Given the description of an element on the screen output the (x, y) to click on. 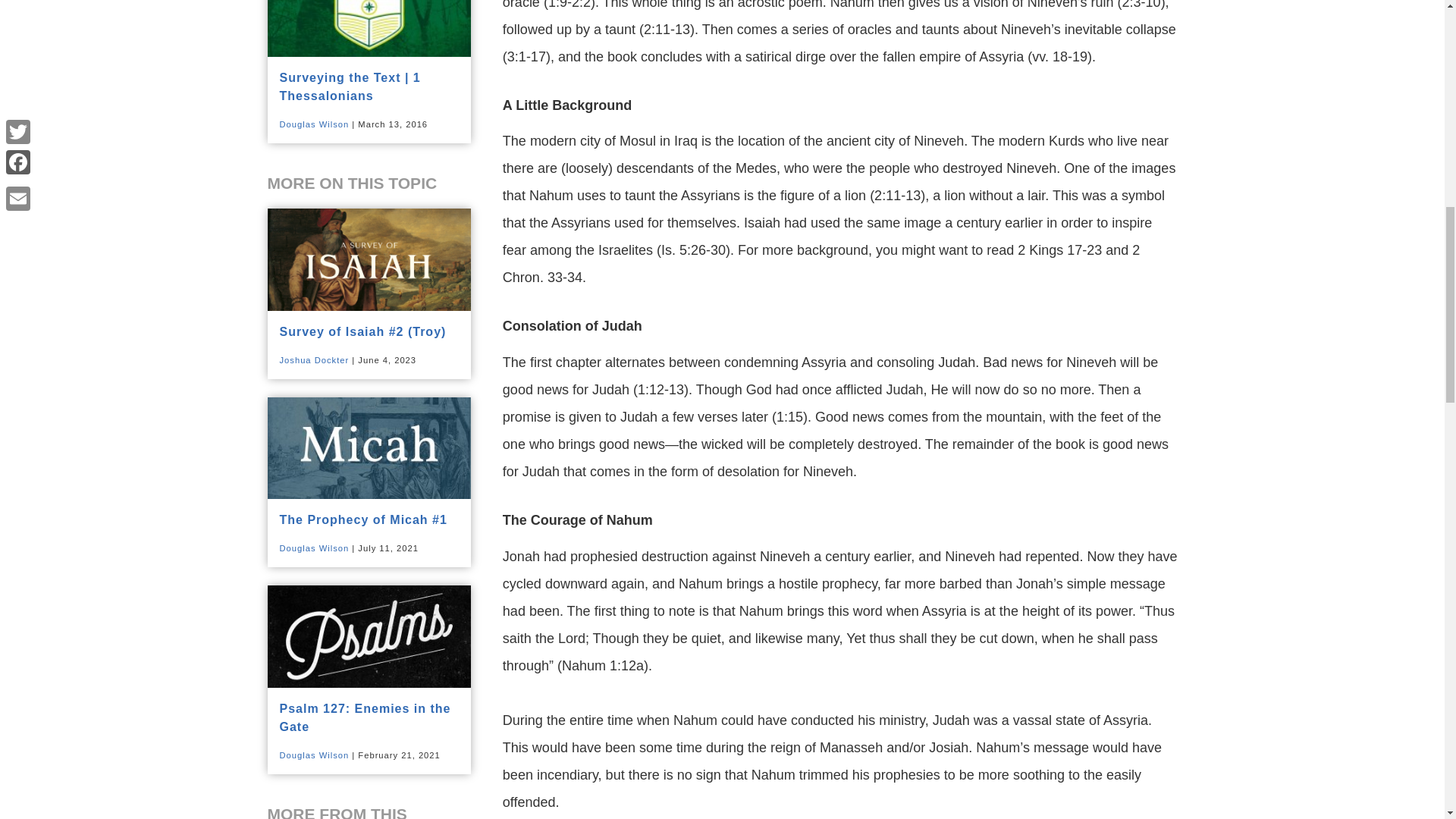
Douglas Wilson (314, 755)
Psalm 127: Enemies in the Gate (364, 717)
Joshua Dockter (314, 359)
Douglas Wilson (314, 123)
Douglas Wilson (314, 547)
